Given the description of an element on the screen output the (x, y) to click on. 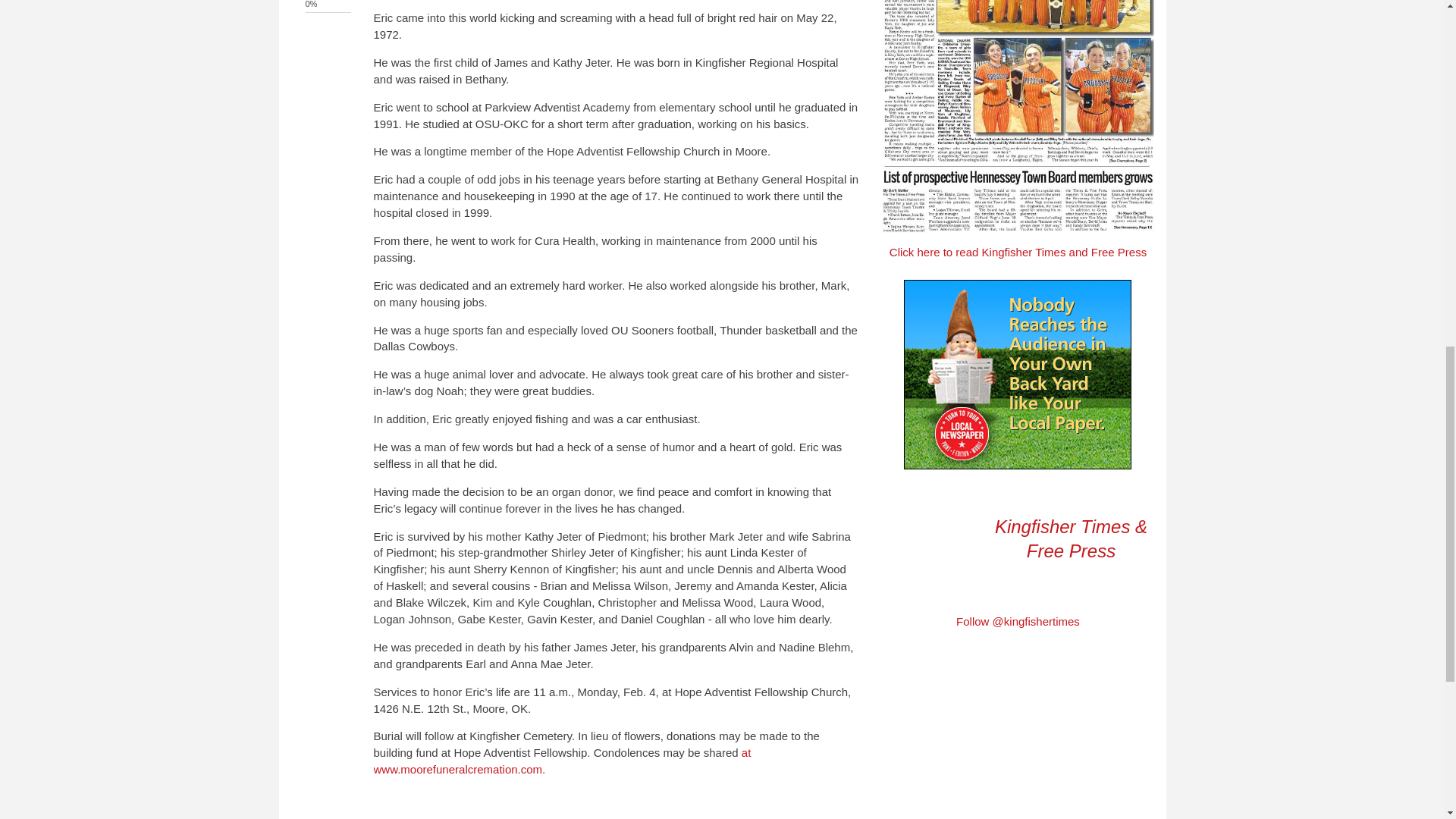
Click here to read Kingfisher Times and Free Press (1018, 251)
at www.moorefuneralcremation.com. (561, 760)
